Given the description of an element on the screen output the (x, y) to click on. 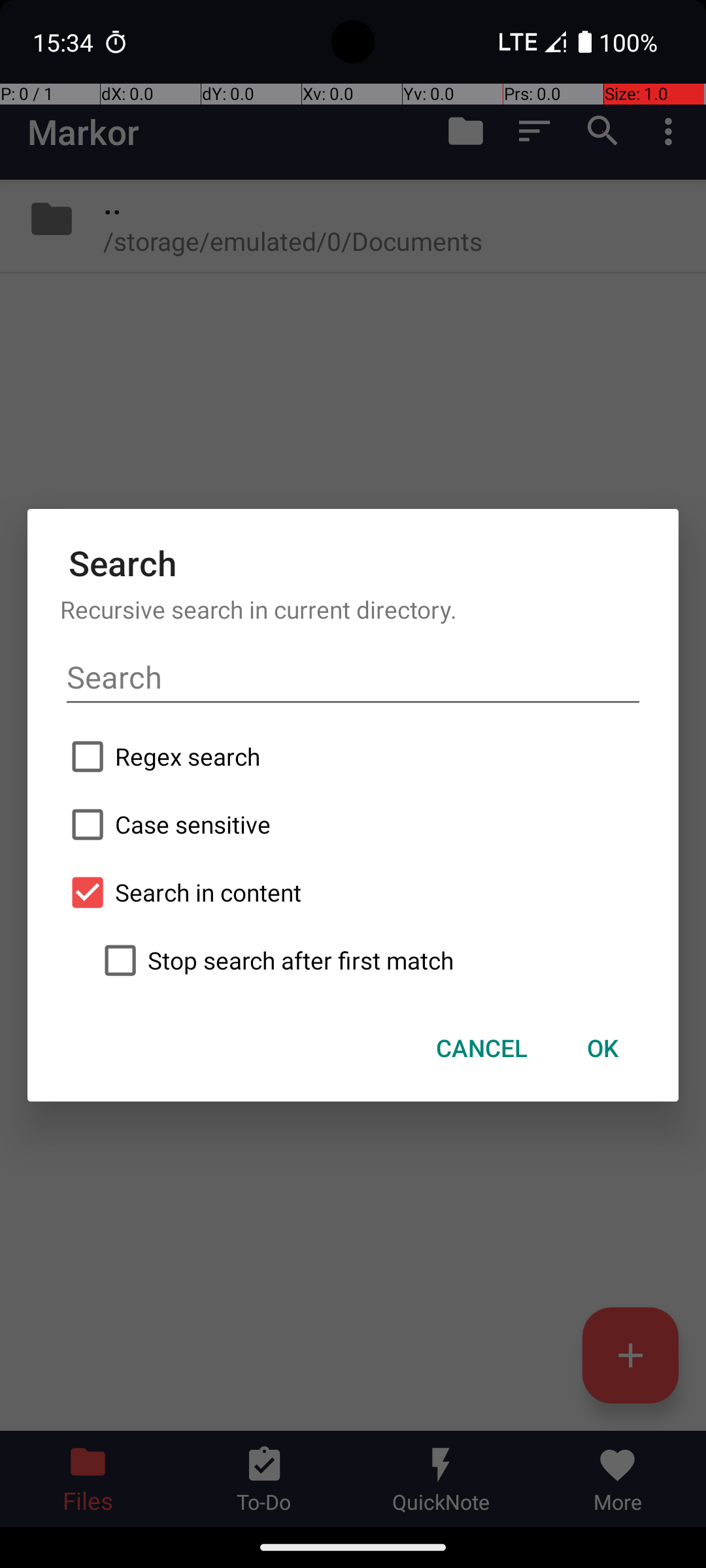
Stop search after first match Element type: android.widget.CheckBox (368, 959)
